Given the description of an element on the screen output the (x, y) to click on. 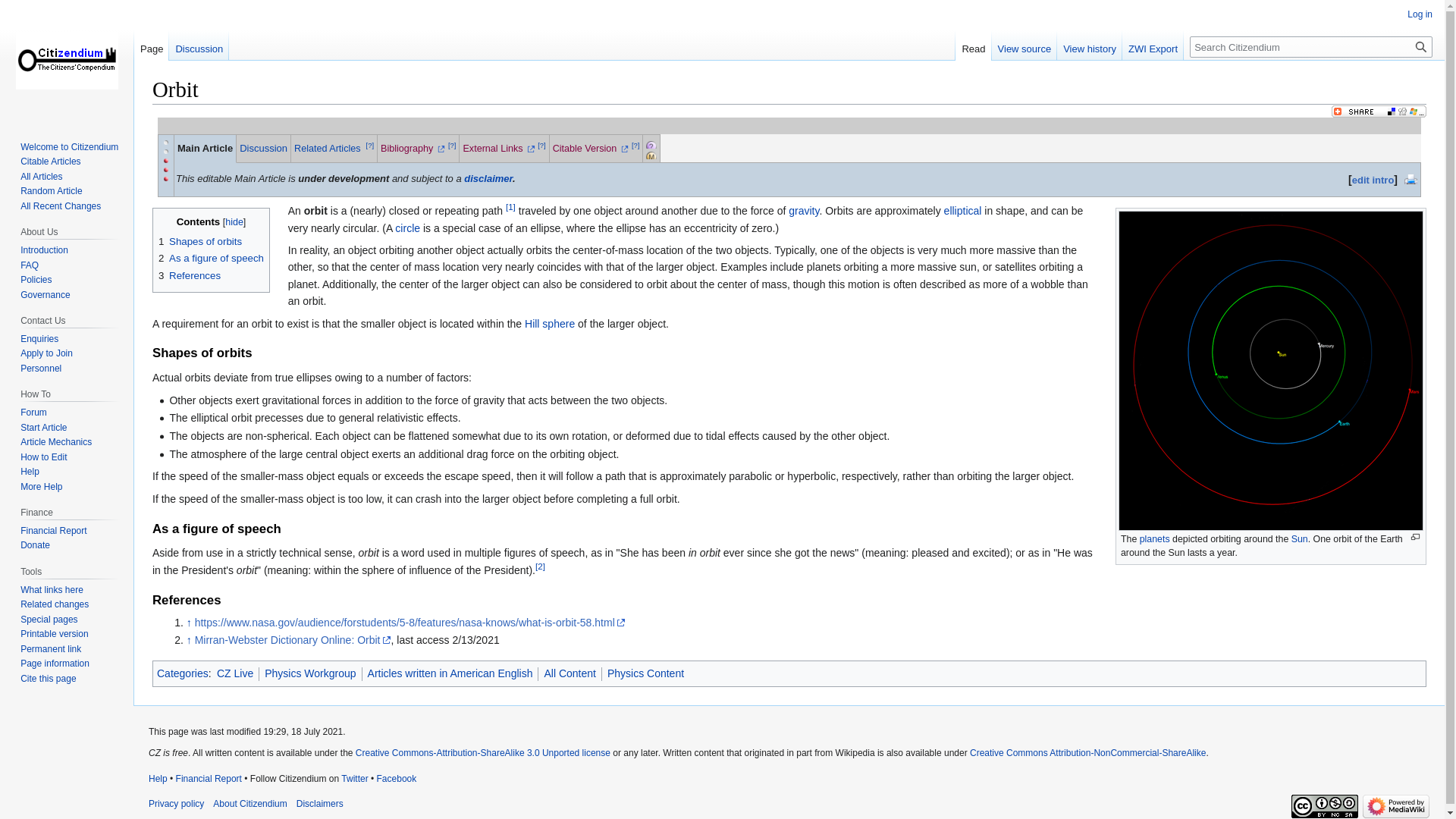
2 As a figure of speech (210, 257)
circle (407, 227)
Search (1420, 46)
Hill sphere (549, 323)
elliptical (962, 210)
Related Articles (328, 148)
Enlarge (1415, 537)
1 Shapes of orbits (199, 241)
External Links (498, 148)
Planets (1155, 538)
planets (1155, 538)
CZ:Disclaimer (488, 178)
disclaimer (488, 178)
